Given the description of an element on the screen output the (x, y) to click on. 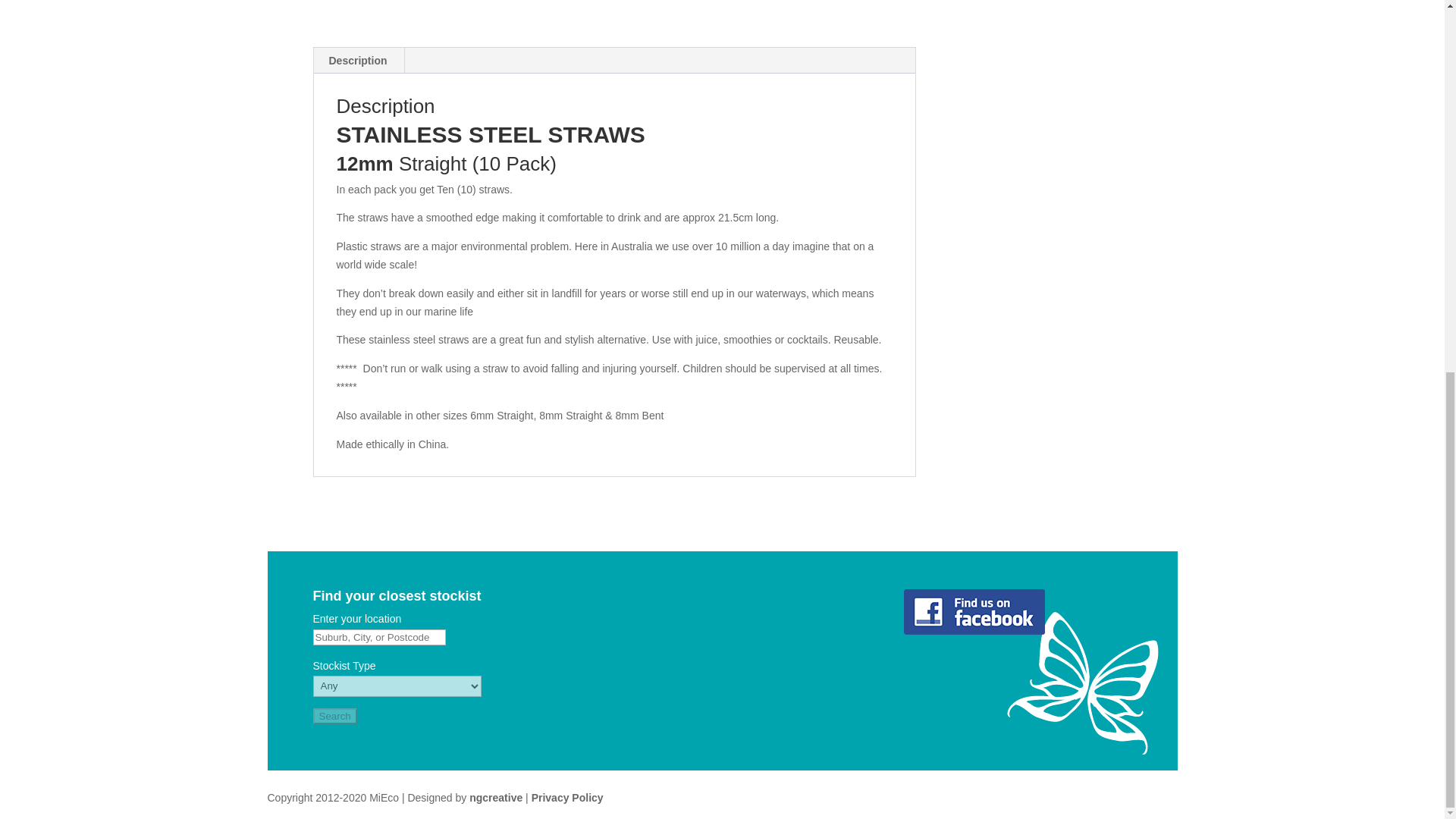
Search (334, 715)
Web design in Brisbane, Australia (495, 797)
Description (358, 60)
